Given the description of an element on the screen output the (x, y) to click on. 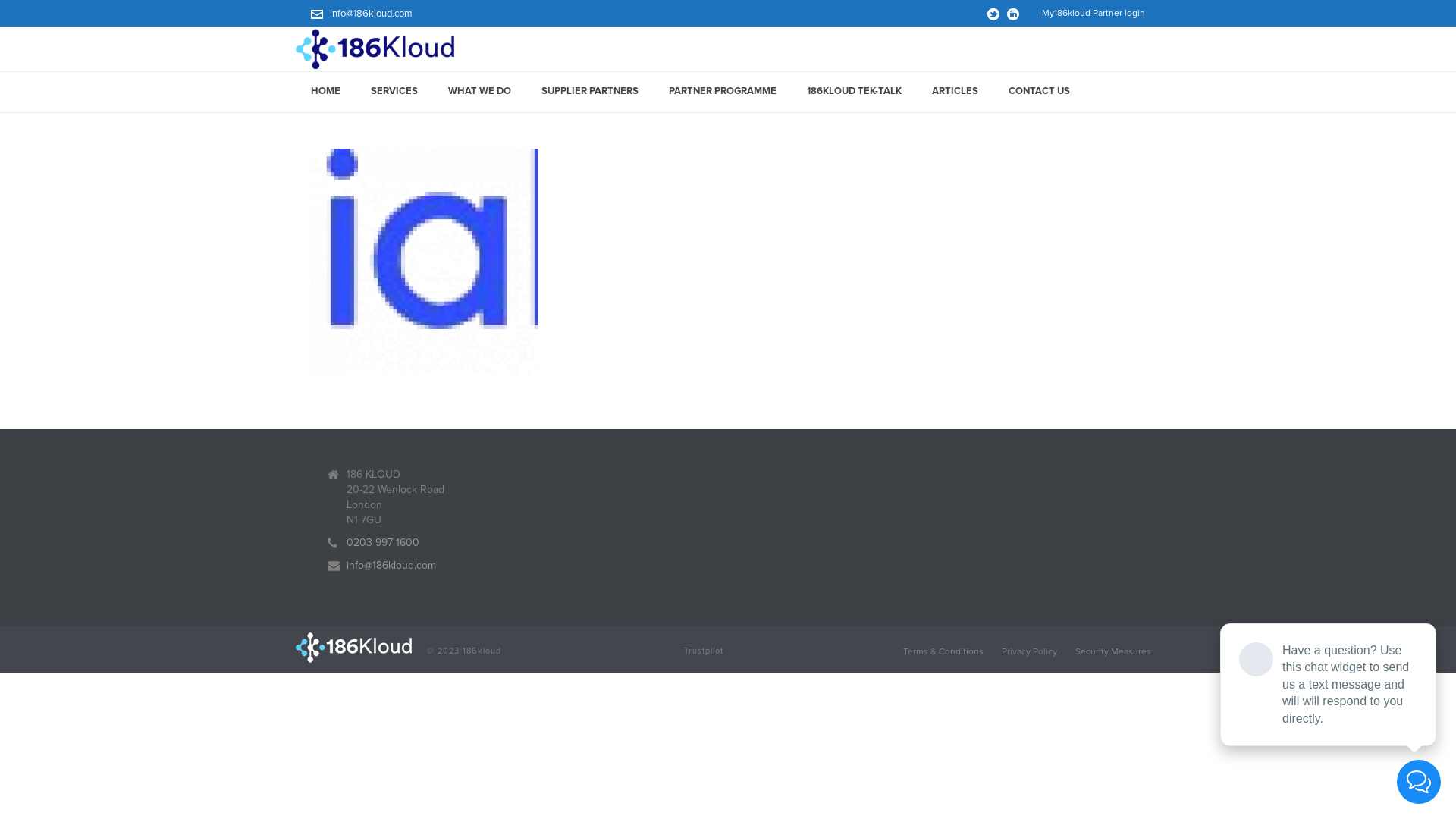
SUPPLIER PARTNERS Element type: text (589, 92)
Security Measures Element type: text (1113, 651)
0203 997 1600 Element type: text (382, 542)
PARTNER PROGRAMME Element type: text (722, 92)
SERVICES Element type: text (394, 92)
186KLOUD TEK-TALK Element type: text (853, 92)
Privacy Policy Element type: text (1029, 651)
WHAT WE DO Element type: text (479, 92)
My186kloud Partner login Element type: text (1093, 13)
ARTICLES Element type: text (954, 92)
Terms & Conditions Element type: text (943, 651)
info@186kloud.com Element type: text (391, 565)
186kloud technology world wide Element type: hover (374, 48)
HOME Element type: text (325, 92)
CONTACT US Element type: text (1039, 92)
Trustpilot Element type: text (703, 650)
info@186kloud.com Element type: text (370, 13)
186kloud technology world wide Element type: hover (353, 646)
